Given the description of an element on the screen output the (x, y) to click on. 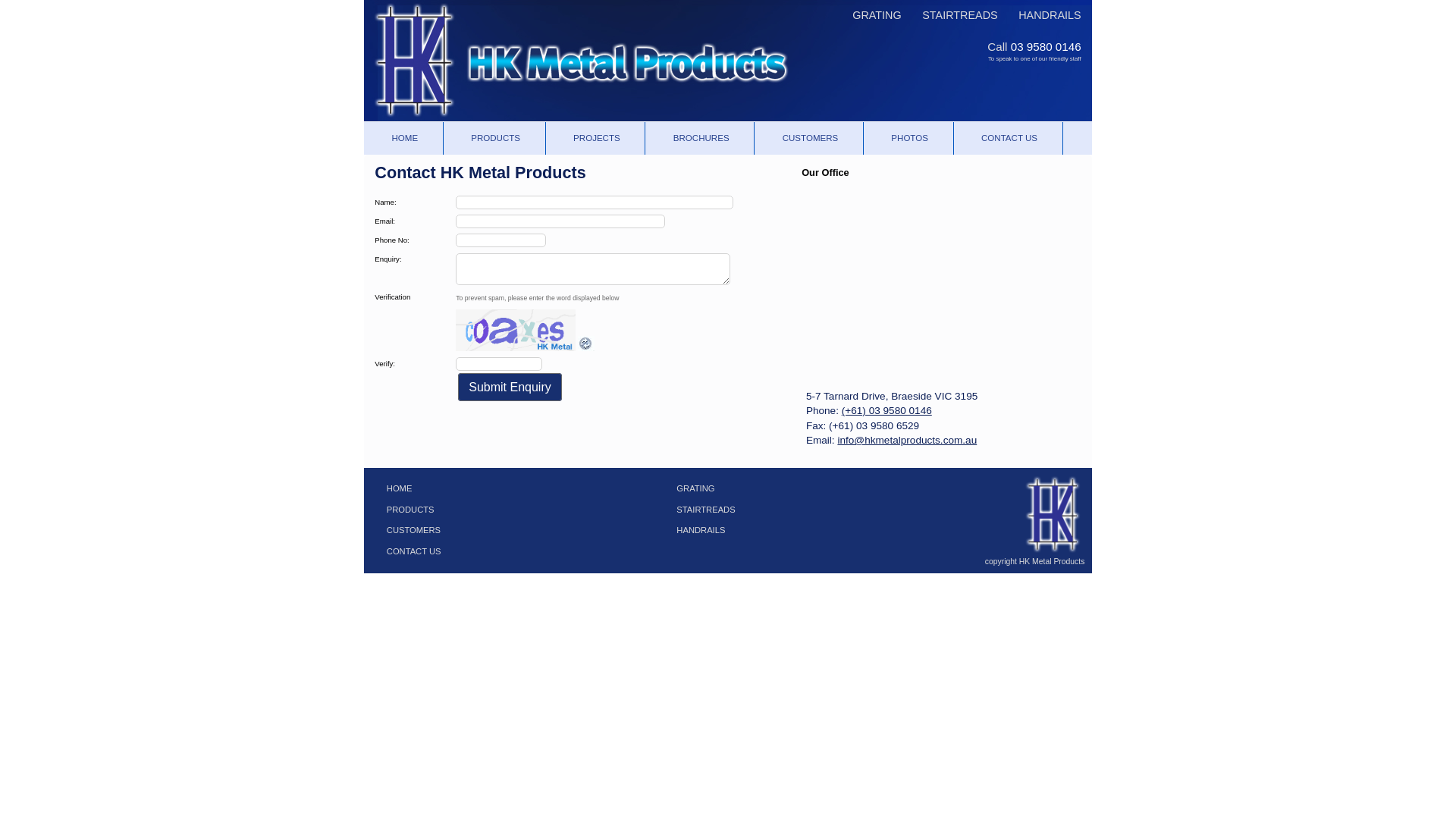
CUSTOMERS Element type: text (494, 525)
PROJECTS Element type: text (598, 138)
(+61) 03 9580 0146 Element type: text (886, 410)
GRATING Element type: text (868, 15)
Submit Enquiry Element type: text (510, 387)
HANDRAILS Element type: text (1041, 15)
CUSTOMERS Element type: text (812, 138)
HOME Element type: text (494, 483)
03 9580 0146 Element type: text (1045, 46)
BROCHURES Element type: text (703, 138)
Refresh Image Element type: hover (585, 348)
PRODUCTS Element type: text (494, 503)
STAIRTREADS Element type: text (735, 503)
info@hkmetalproducts.com.au Element type: text (906, 439)
CONTACT US Element type: text (1011, 138)
STAIRTREADS Element type: text (951, 15)
PRODUCTS Element type: text (497, 138)
PHOTOS Element type: text (911, 138)
HANDRAILS Element type: text (735, 525)
HOME Element type: text (407, 138)
CONTACT US Element type: text (494, 545)
GRATING Element type: text (735, 483)
